Given the description of an element on the screen output the (x, y) to click on. 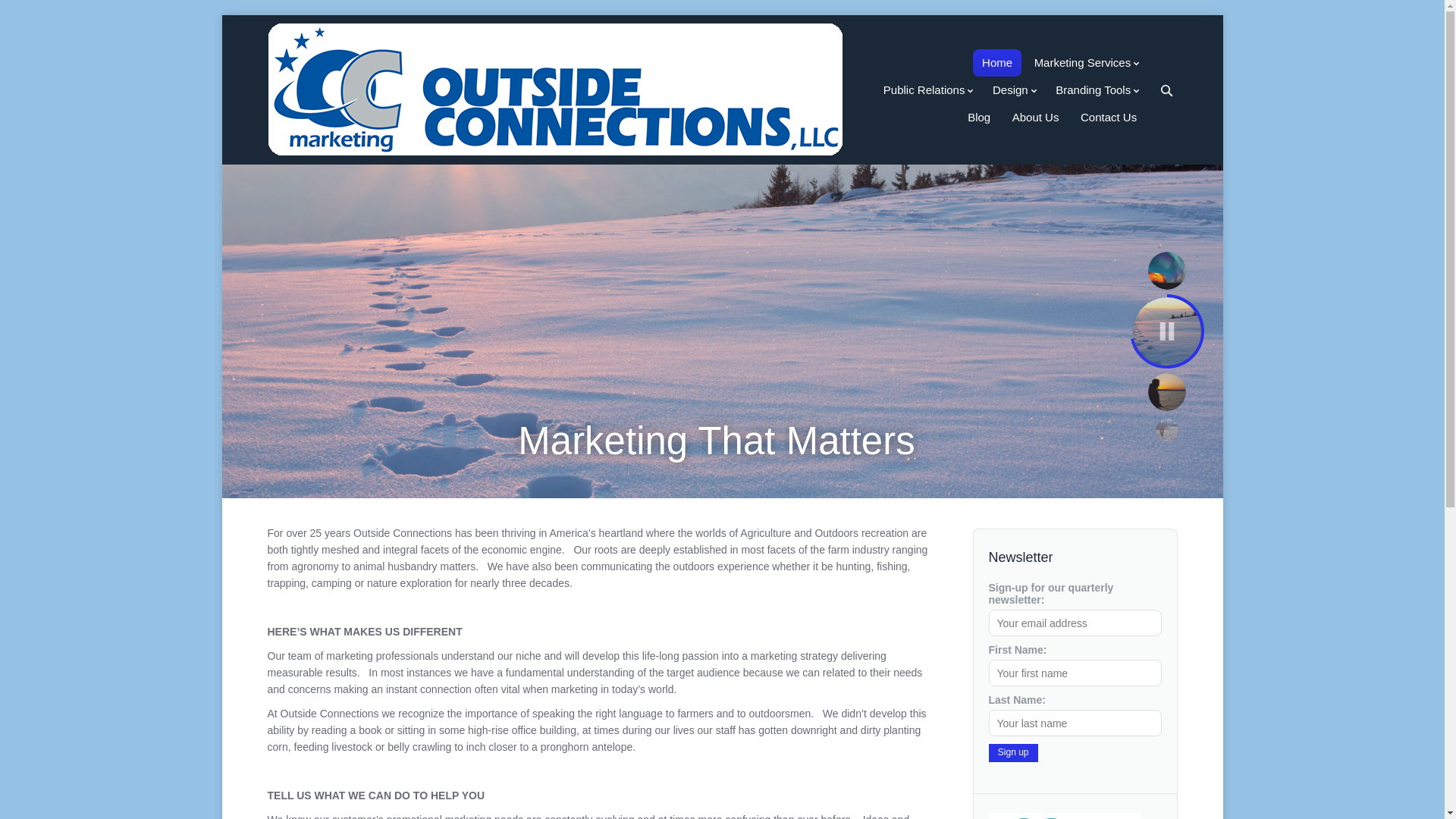
Branding Tools (1096, 90)
Marketing Services (1085, 62)
Sign up (1013, 752)
Blog (979, 117)
Design (1013, 90)
Home (997, 62)
Contact Us (1109, 117)
Public Relations (927, 90)
About Us (1035, 117)
